Given the description of an element on the screen output the (x, y) to click on. 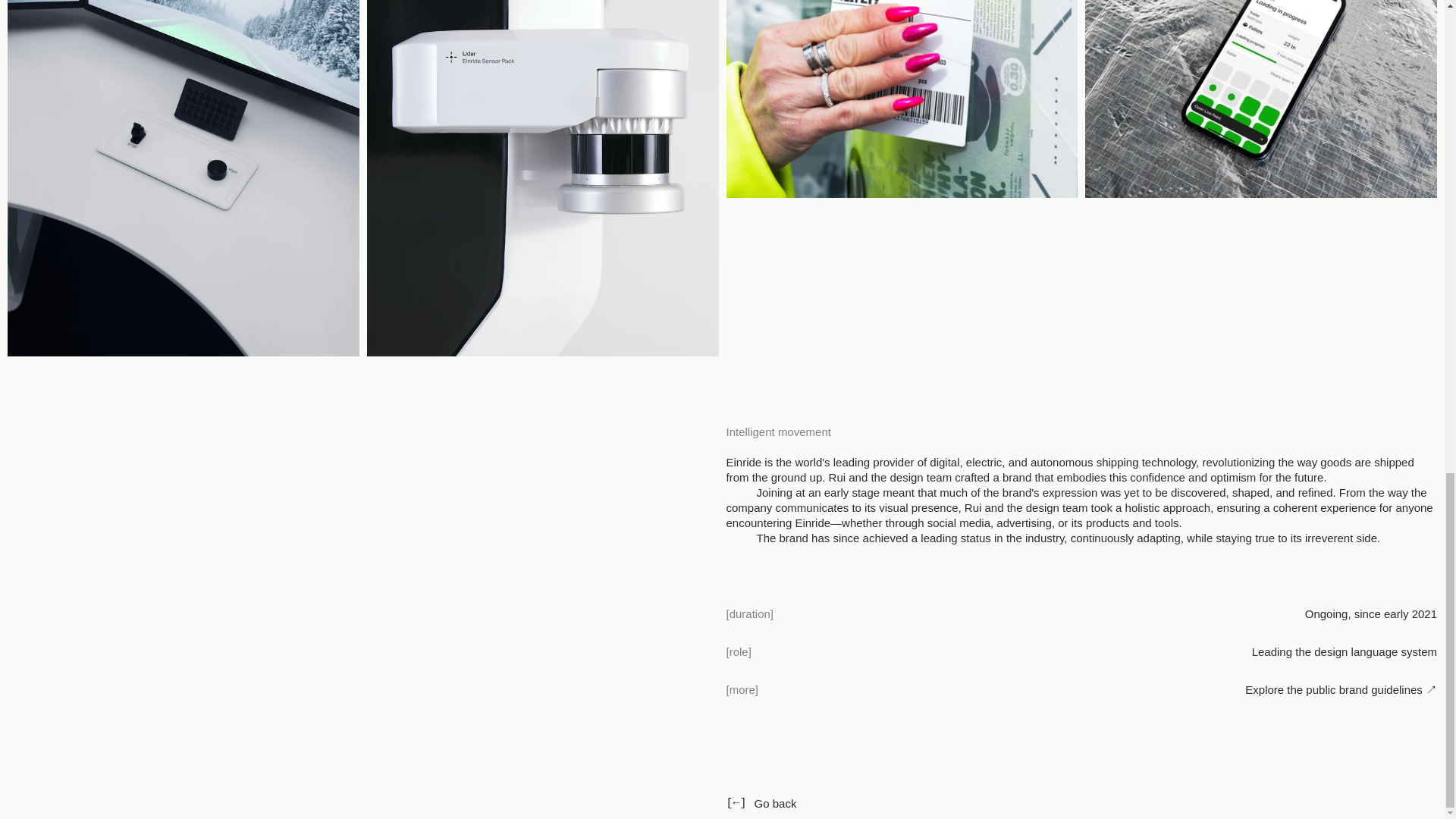
Explore the public brand guidelines (1333, 689)
